Given the description of an element on the screen output the (x, y) to click on. 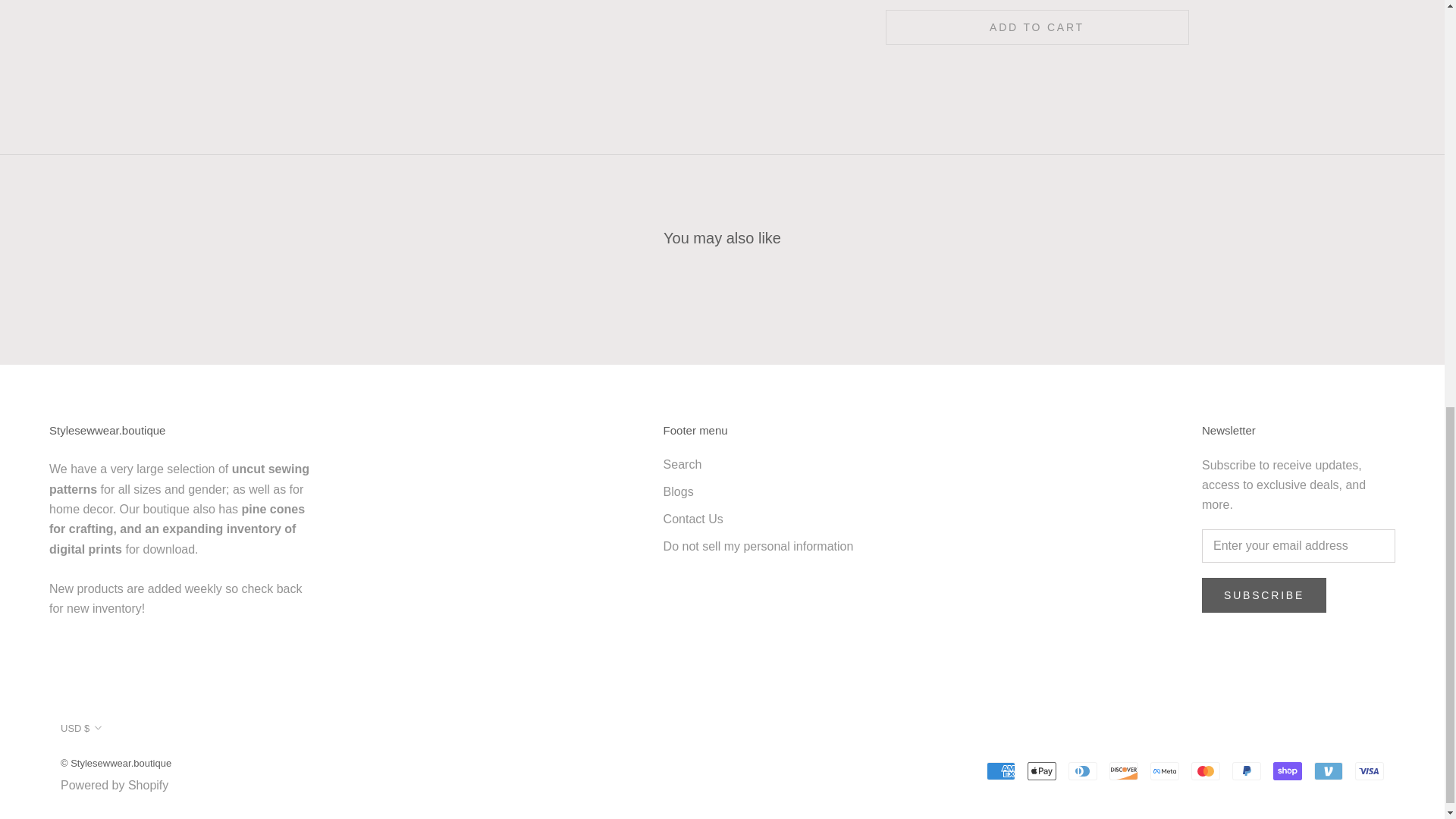
Shop Pay (1286, 771)
Apple Pay (1042, 771)
Mastercard (1205, 771)
Diners Club (1082, 771)
Discover (1123, 771)
Meta Pay (1164, 771)
American Express (1000, 771)
Visa (1369, 771)
PayPal (1245, 771)
Venmo (1328, 771)
